Given the description of an element on the screen output the (x, y) to click on. 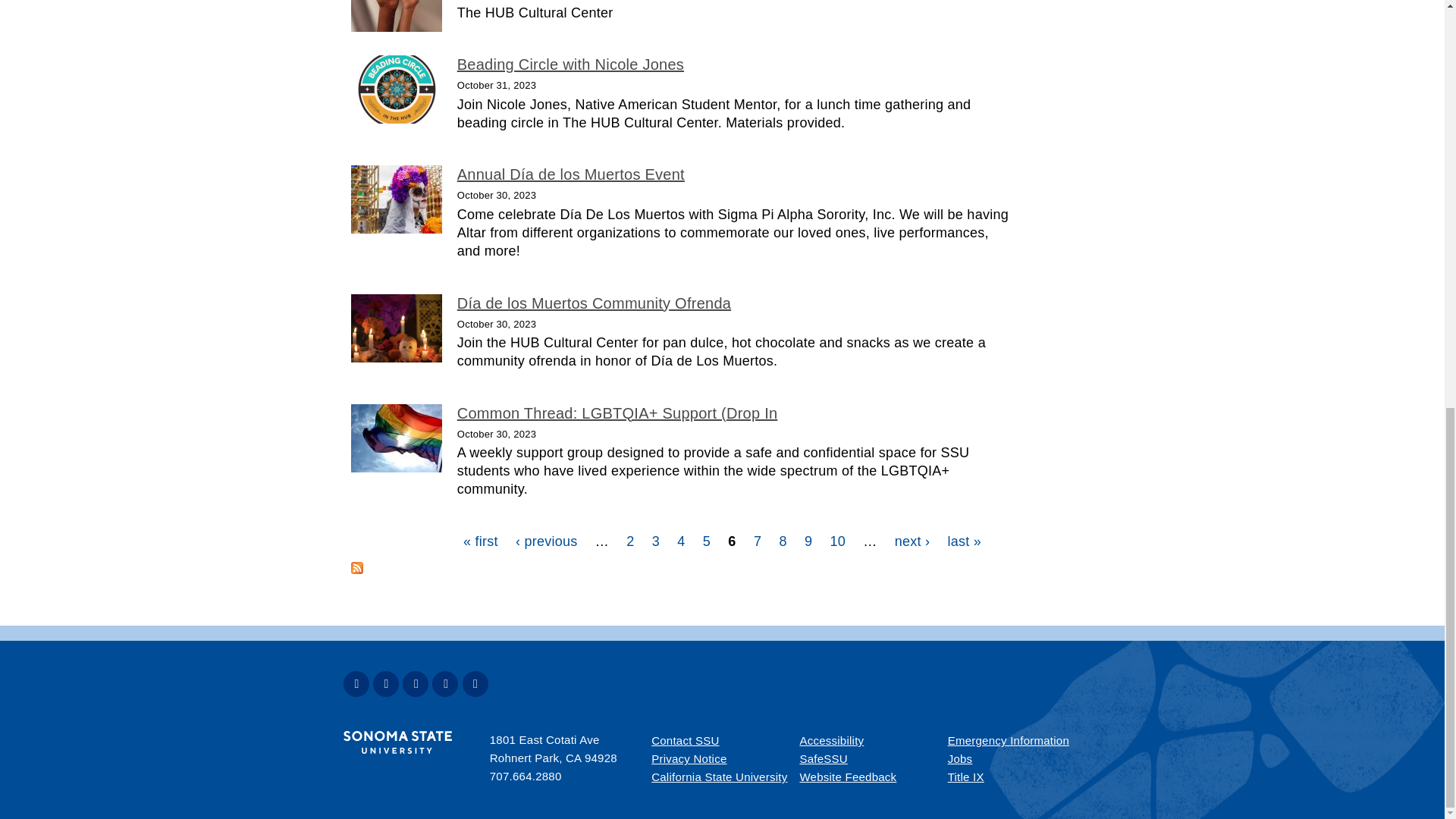
Beading Circle  (395, 89)
Go to first page (480, 540)
Go to previous page (546, 540)
